Given the description of an element on the screen output the (x, y) to click on. 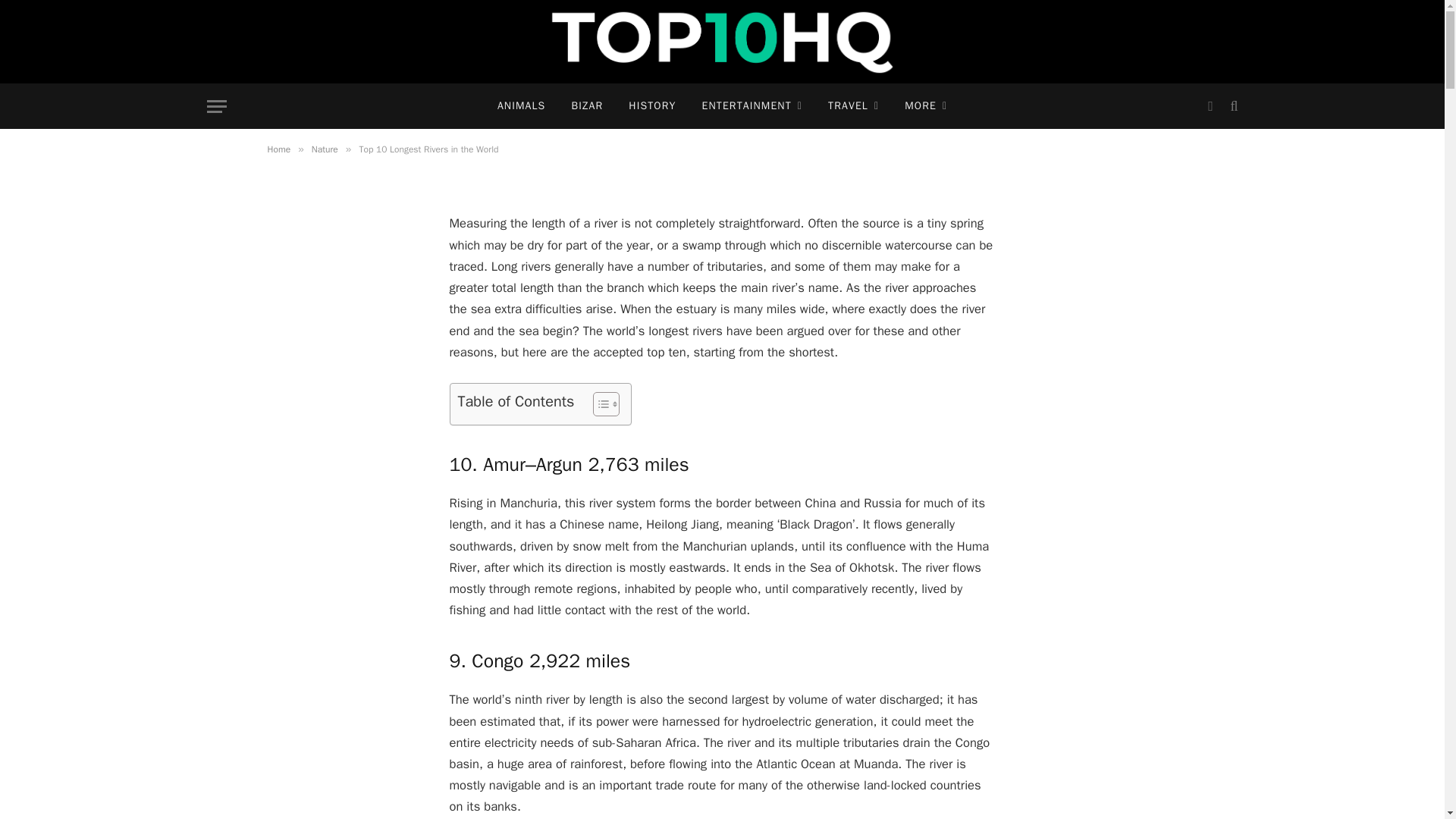
ENTERTAINMENT (751, 105)
ANIMALS (521, 105)
Nature (324, 149)
TRAVEL (853, 105)
HISTORY (651, 105)
MORE (925, 105)
Switch to Dark Design - easier on eyes. (1209, 106)
Top10HQ (721, 41)
BIZAR (586, 105)
Home (277, 149)
